Given the description of an element on the screen output the (x, y) to click on. 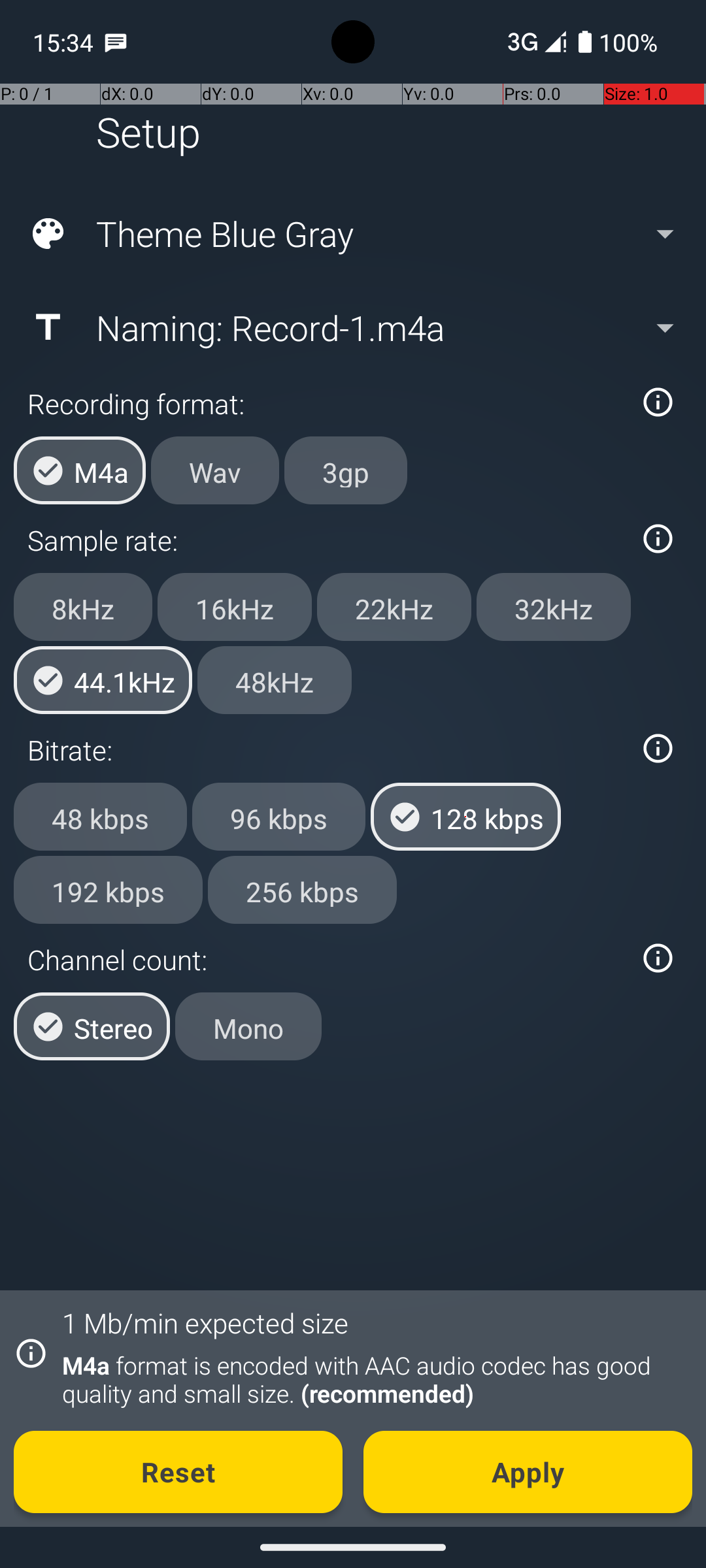
M4a format is encoded with AAC audio codec has good quality and small size. (recommended) Element type: android.widget.TextView (370, 1378)
